Given the description of an element on the screen output the (x, y) to click on. 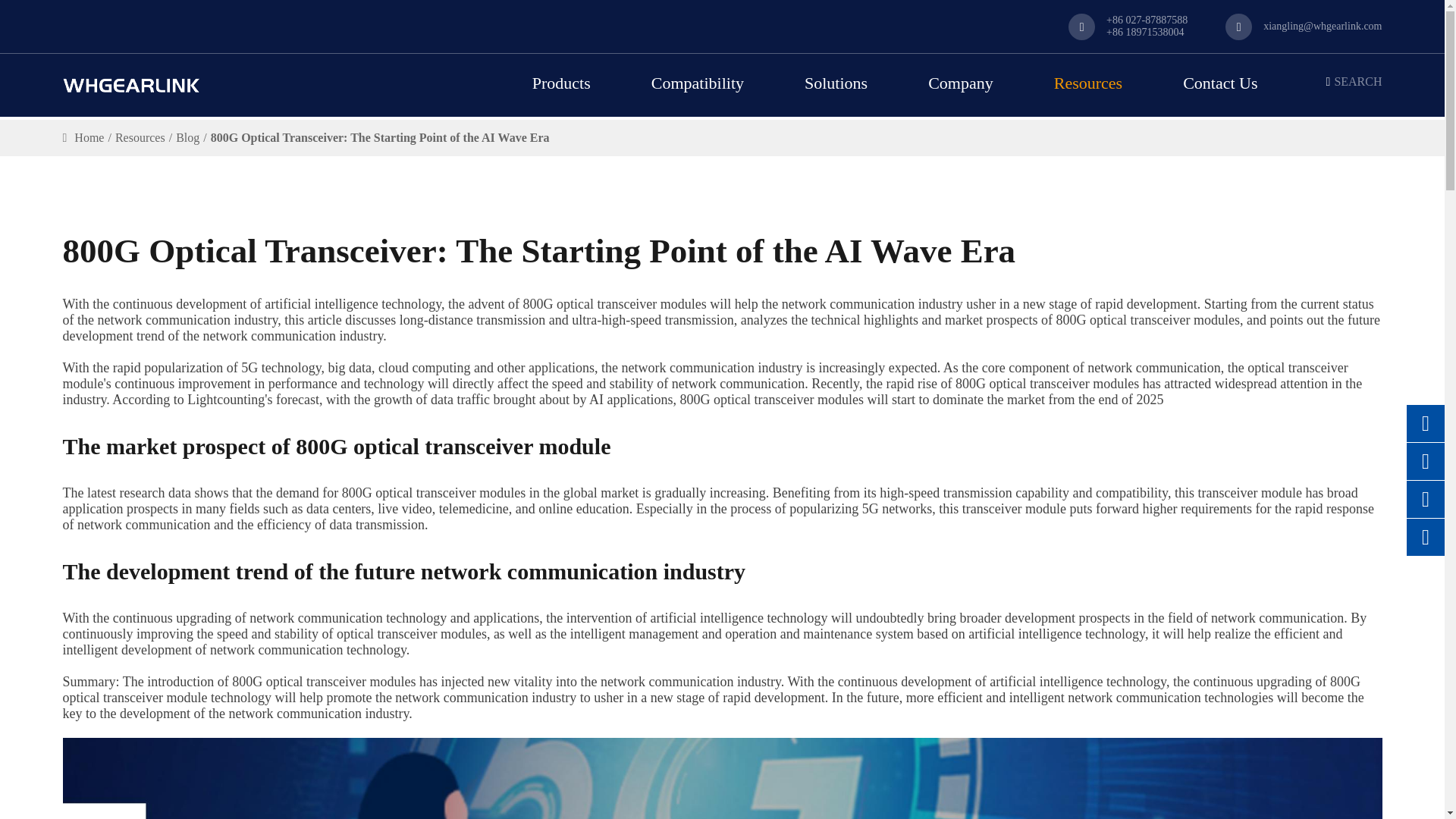
Resources (140, 137)
Wuhan Gearlink Technology Co., Ltd. (130, 84)
Blog (187, 137)
